Given the description of an element on the screen output the (x, y) to click on. 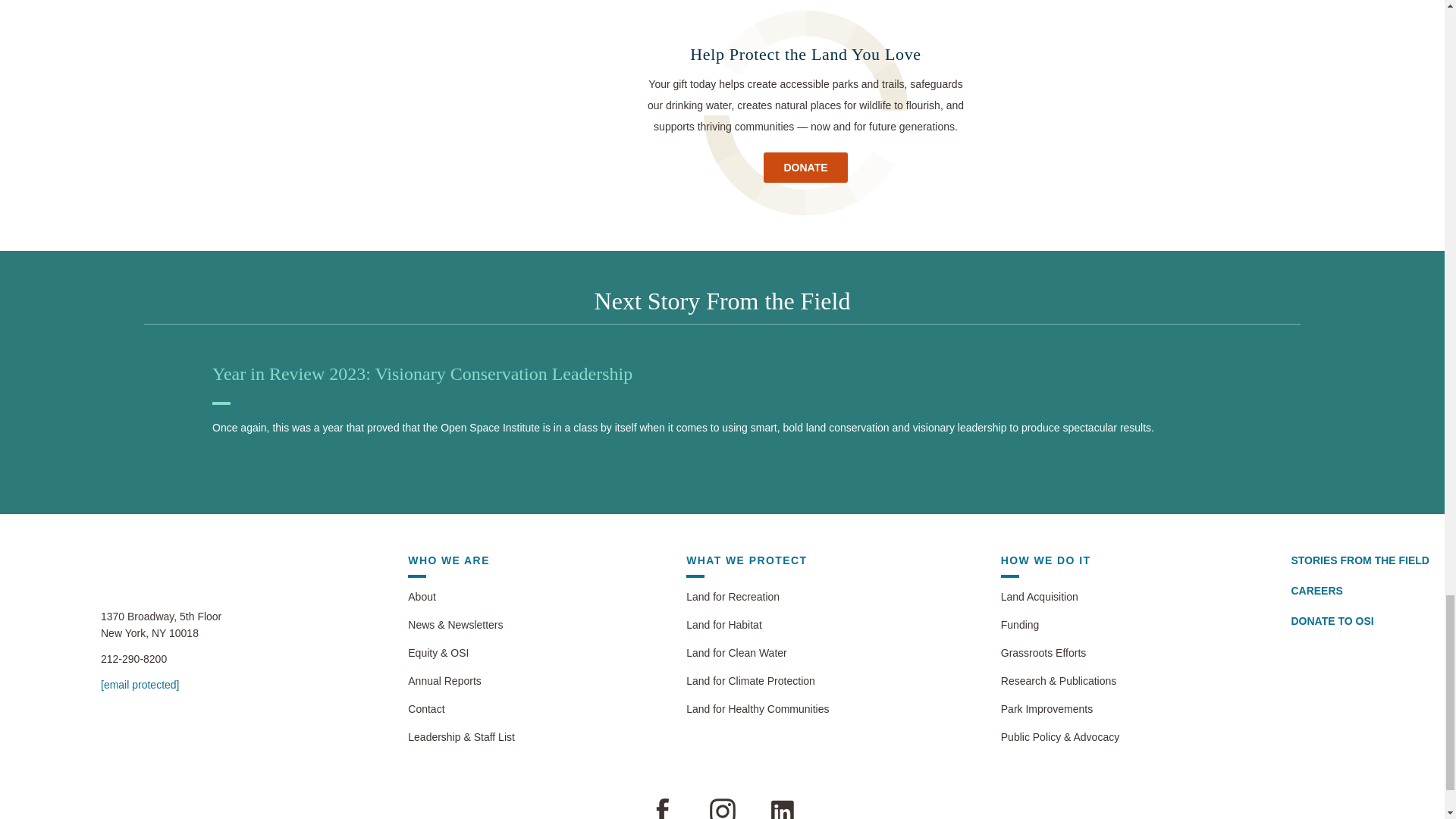
tan-circles (804, 114)
